Given the description of an element on the screen output the (x, y) to click on. 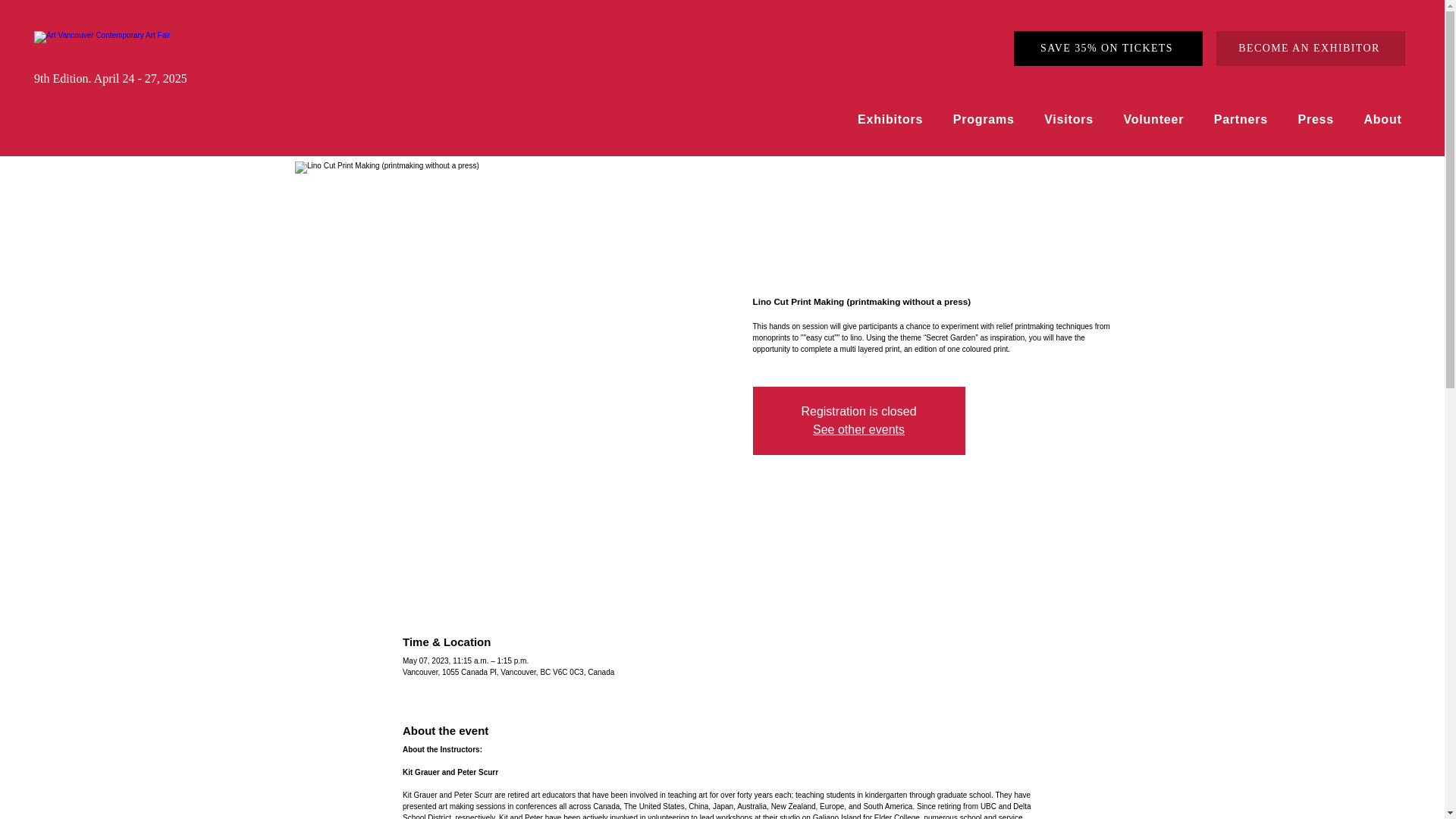
Volunteer (1157, 119)
BECOME AN EXHIBITOR (1310, 48)
Partners (1245, 119)
About (1386, 119)
See other events (858, 429)
